Given the description of an element on the screen output the (x, y) to click on. 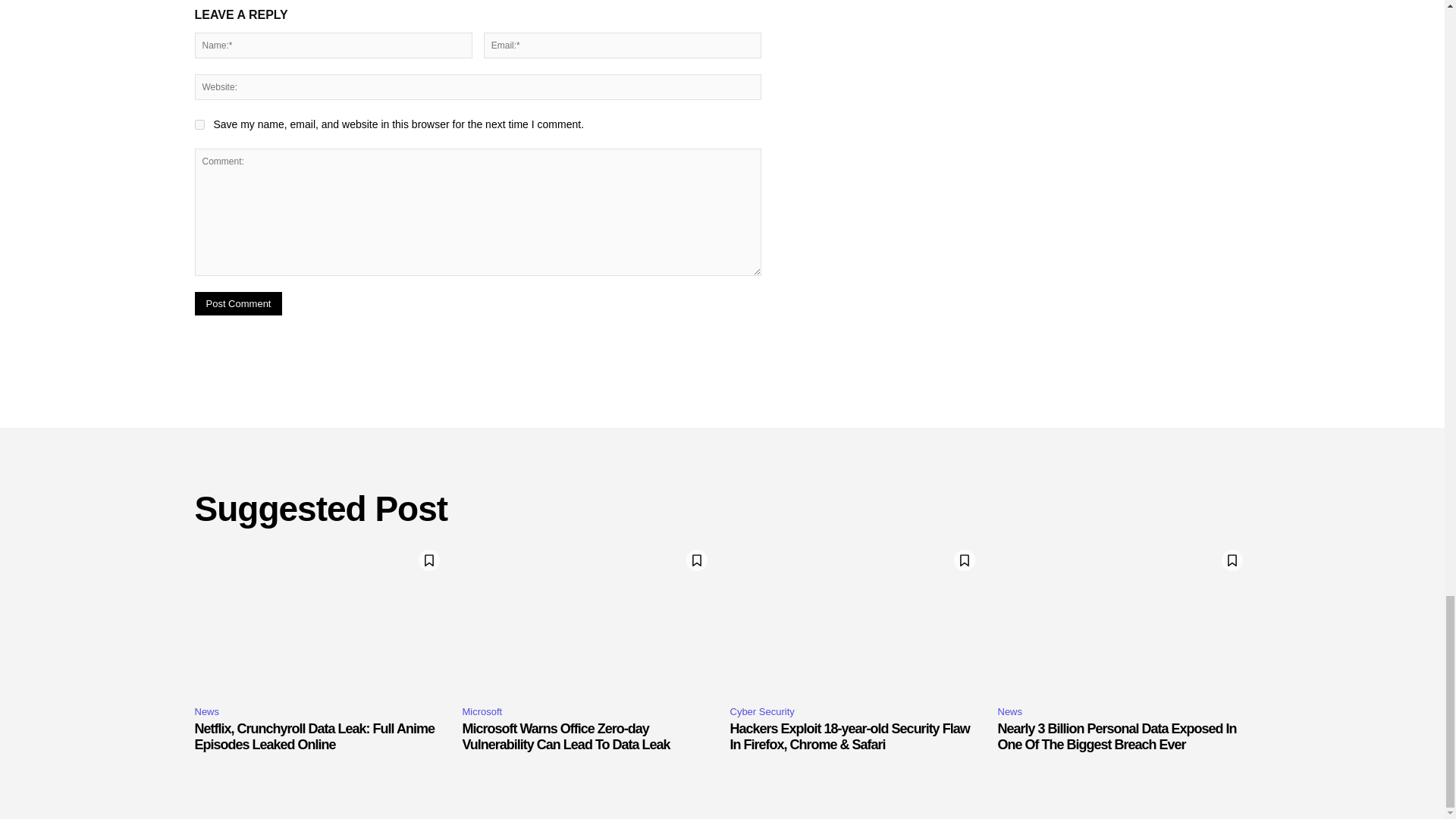
yes (198, 124)
Post Comment (237, 303)
Post Comment (237, 303)
